Given the description of an element on the screen output the (x, y) to click on. 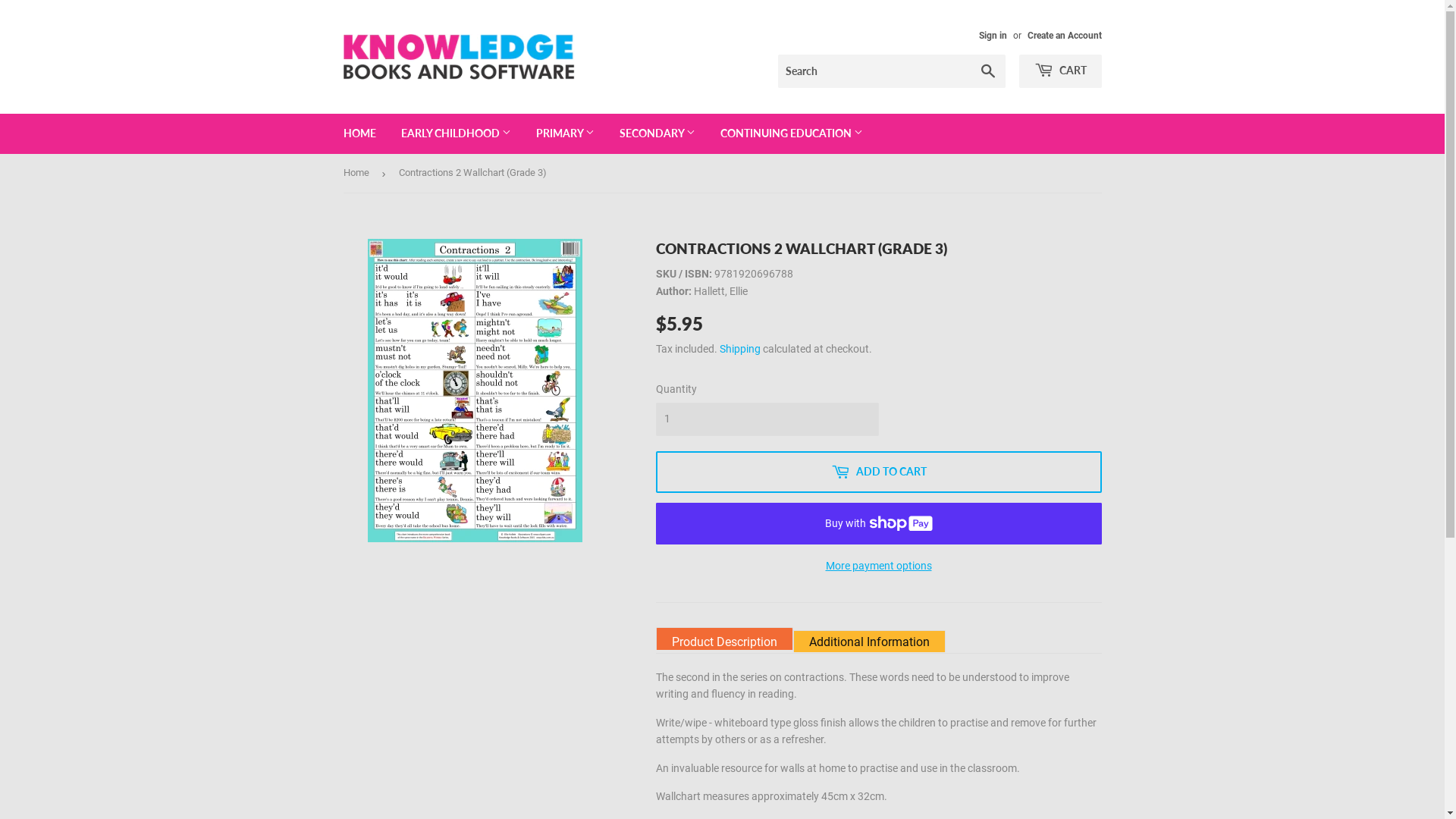
Search Element type: text (987, 71)
CONTINUING EDUCATION Element type: text (790, 133)
HOME Element type: text (359, 133)
EARLY CHILDHOOD Element type: text (455, 133)
Home Element type: text (357, 172)
Additional Information Element type: text (869, 641)
Product Description Element type: text (723, 638)
Shipping Element type: text (738, 348)
CART Element type: text (1060, 70)
Create an Account Element type: text (1063, 35)
PRIMARY Element type: text (564, 133)
SECONDARY Element type: text (657, 133)
Sign in Element type: text (992, 35)
ADD TO CART Element type: text (878, 471)
More payment options Element type: text (878, 565)
